Given the description of an element on the screen output the (x, y) to click on. 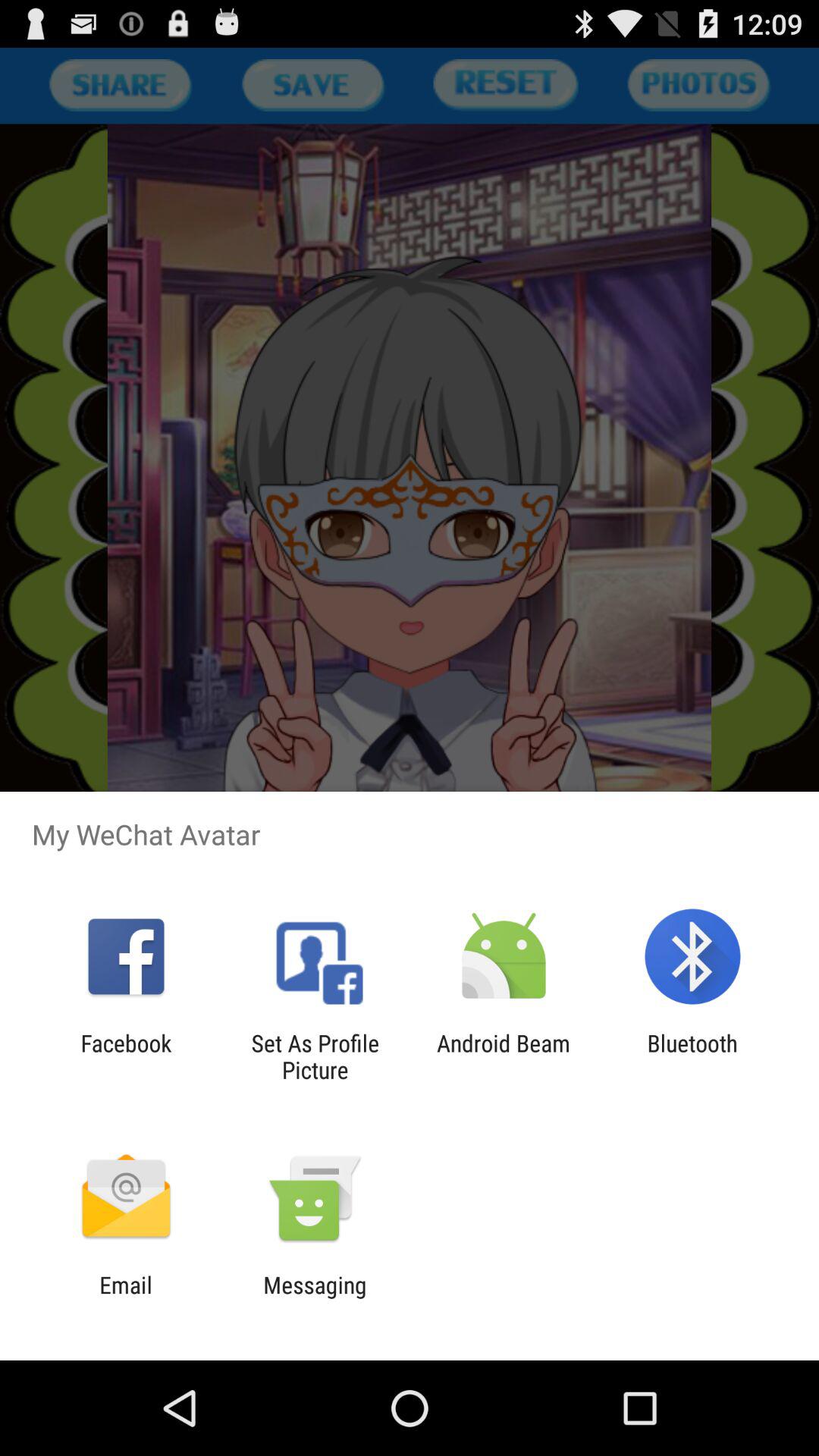
launch app next to the facebook app (314, 1056)
